Given the description of an element on the screen output the (x, y) to click on. 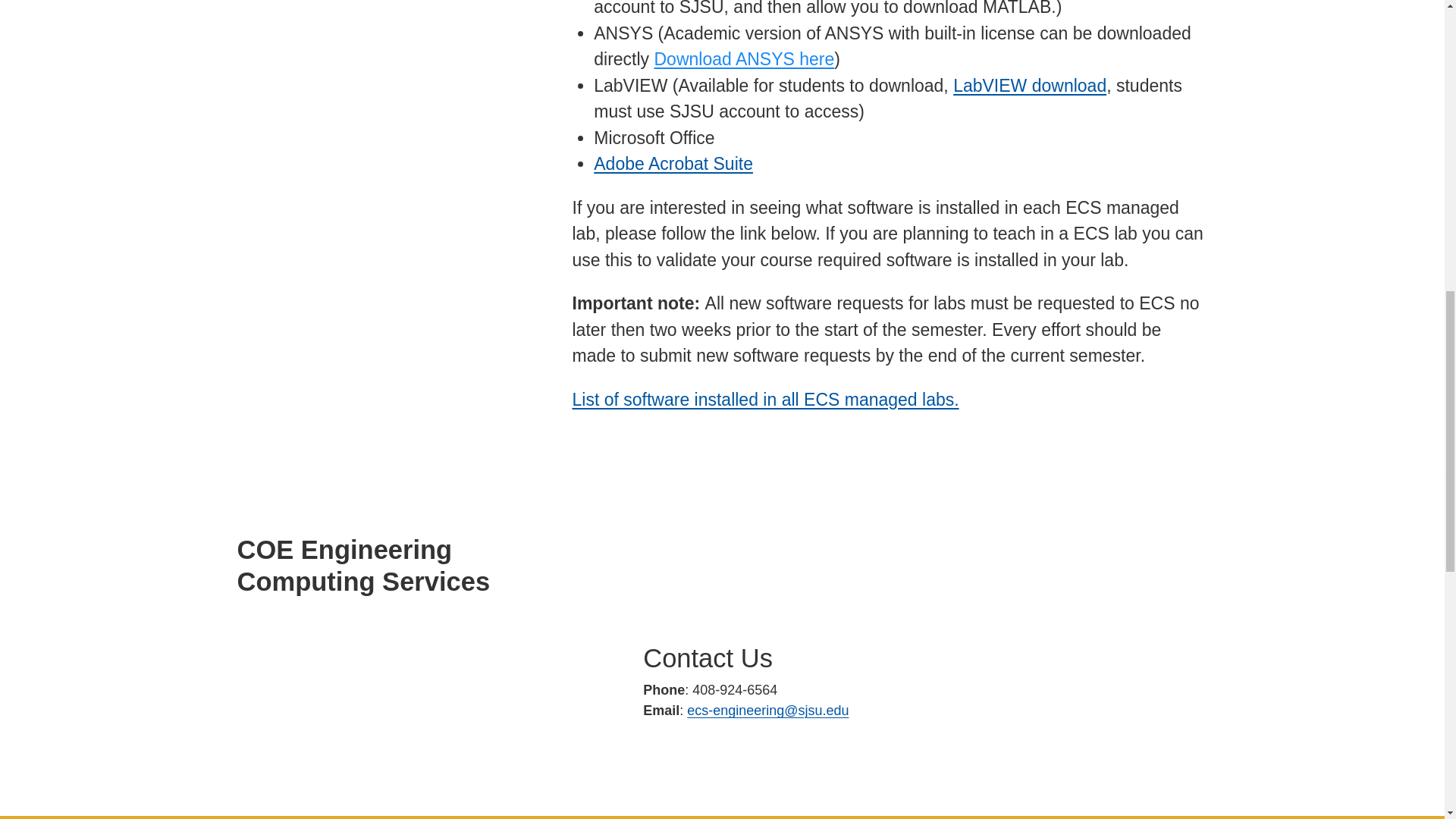
ANSYS Software Download Share (743, 58)
ECS Manged Lab Software List (765, 399)
LabVIEW Download (1029, 85)
